Given the description of an element on the screen output the (x, y) to click on. 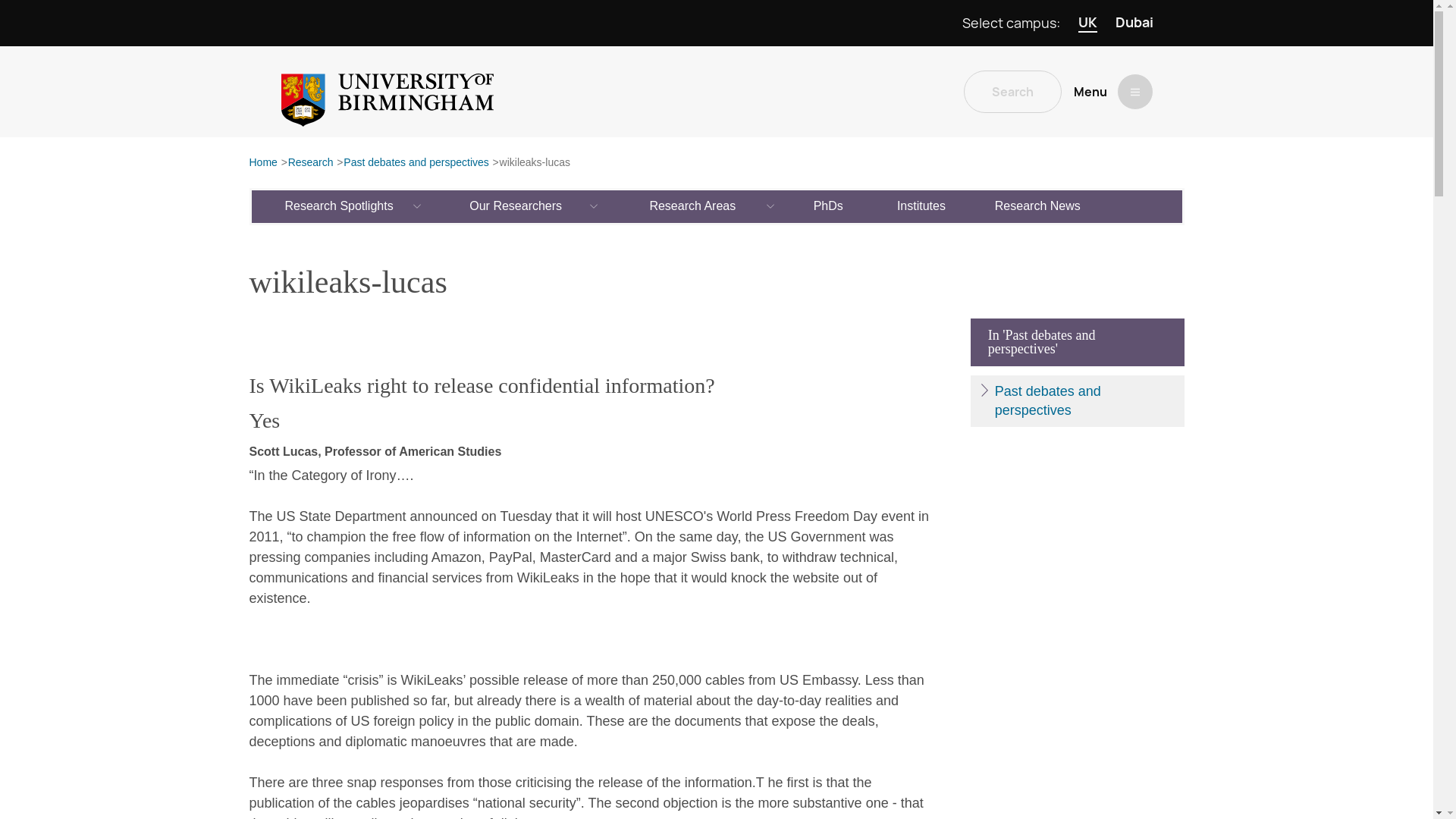
Home (262, 163)
UK (1087, 23)
Research Spotlights (339, 205)
wikileaks-lucas (534, 163)
Research Areas (693, 205)
Dubai (1134, 23)
Past debates and perspectives (415, 163)
Search (1012, 91)
Research (310, 163)
Our Researchers (516, 205)
